Given the description of an element on the screen output the (x, y) to click on. 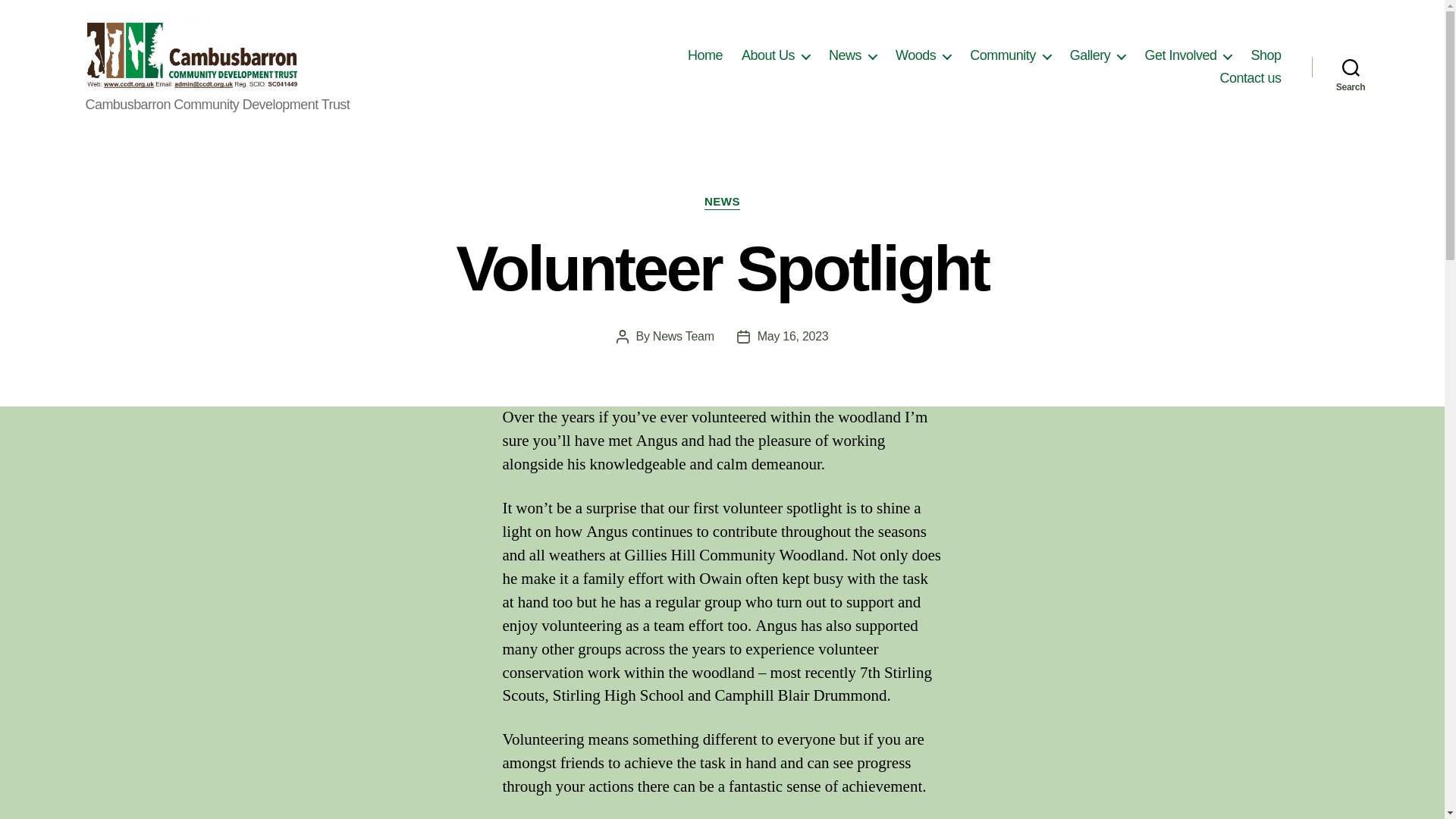
Woods (922, 55)
Gallery (1097, 55)
News (852, 55)
Home (704, 55)
CCDT Home (704, 55)
About Us (775, 55)
Community (1010, 55)
